Given the description of an element on the screen output the (x, y) to click on. 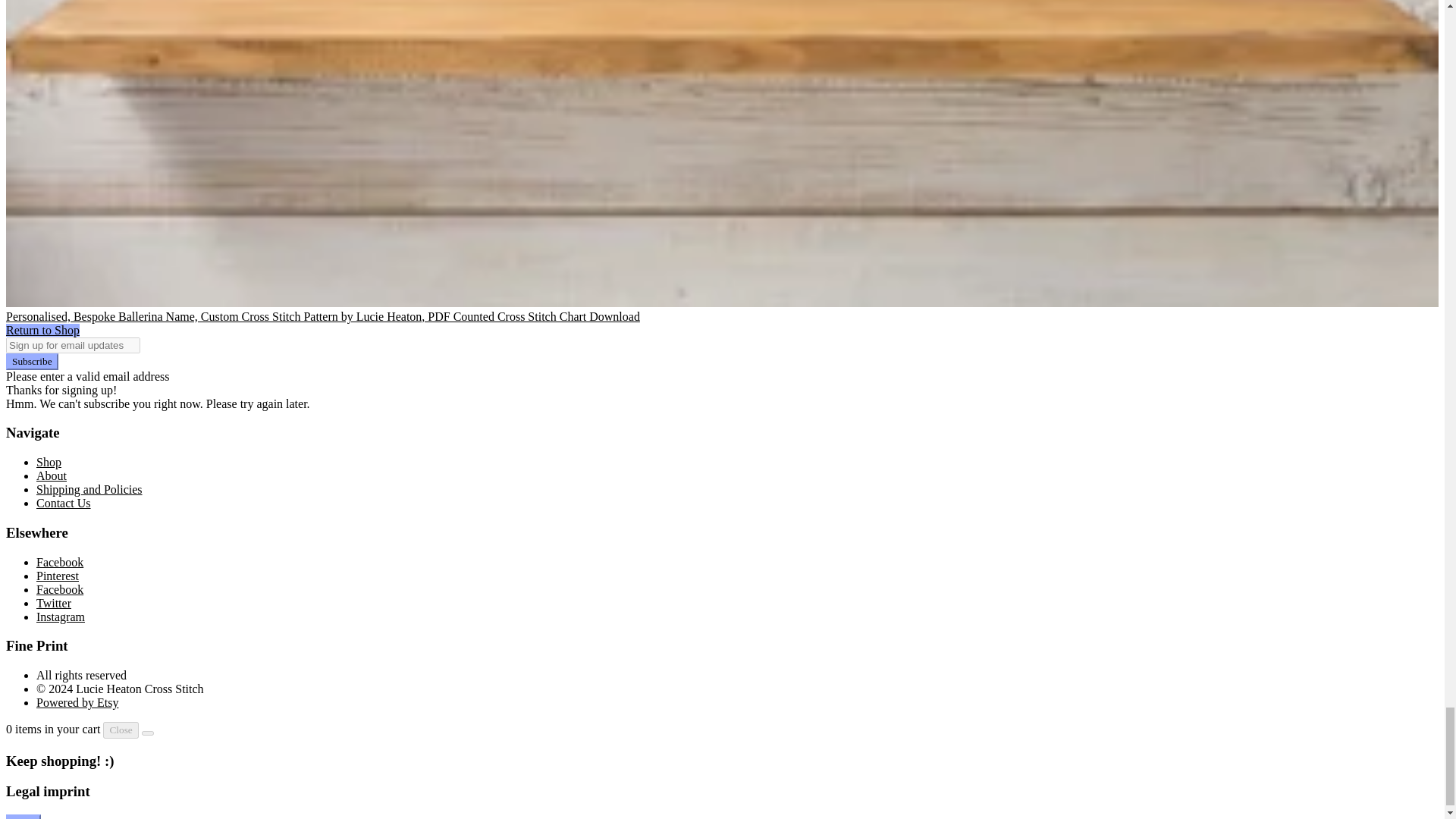
Instagram (60, 616)
Facebook (59, 562)
Return to Shop (42, 329)
Powered by Etsy (76, 702)
Shop (48, 461)
Subscribe (31, 361)
Contact Us (63, 502)
Shipping and Policies (89, 489)
Subscribe (31, 361)
Pinterest (57, 575)
